Given the description of an element on the screen output the (x, y) to click on. 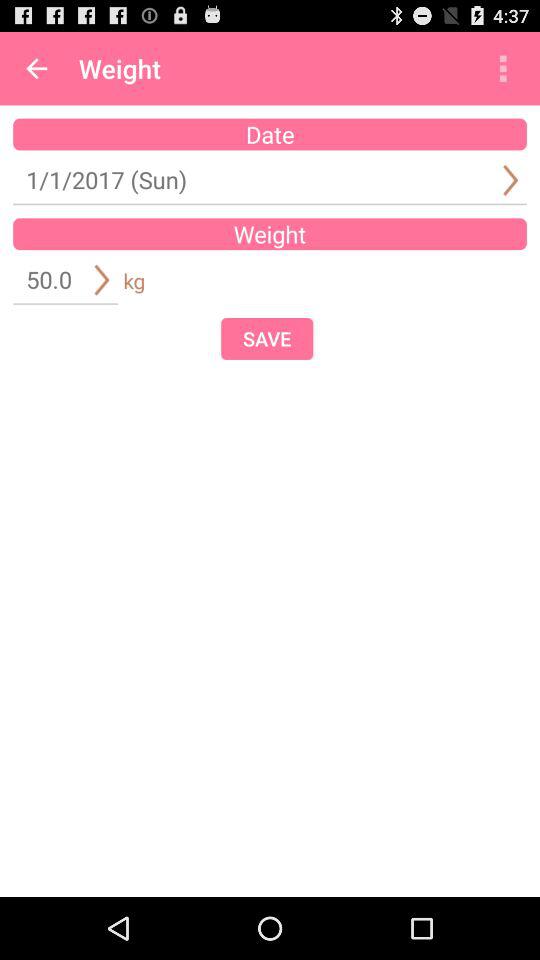
flip until the save item (267, 338)
